Given the description of an element on the screen output the (x, y) to click on. 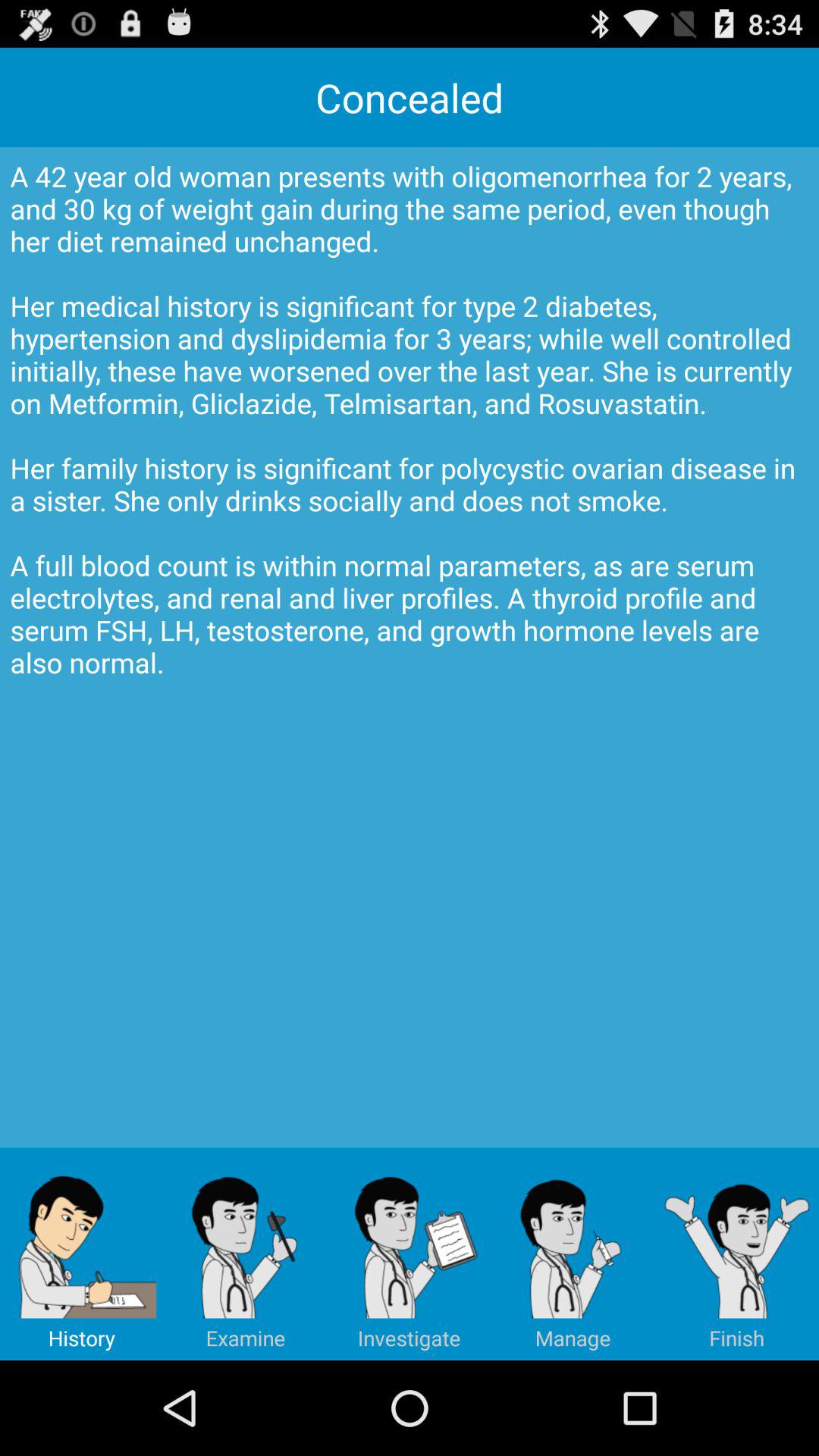
open the item below the a 42 year app (245, 1253)
